Given the description of an element on the screen output the (x, y) to click on. 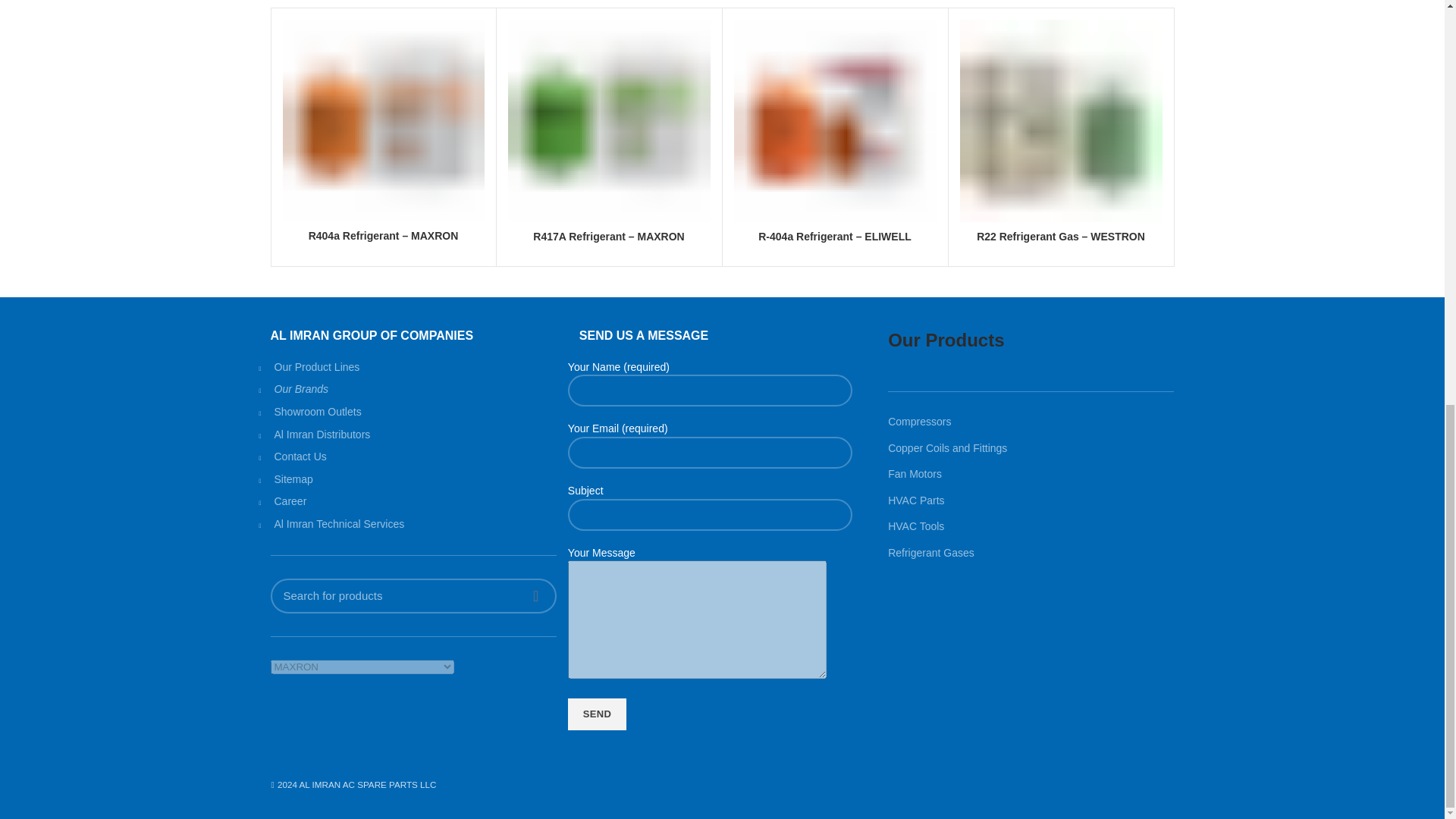
Send (596, 714)
